Given the description of an element on the screen output the (x, y) to click on. 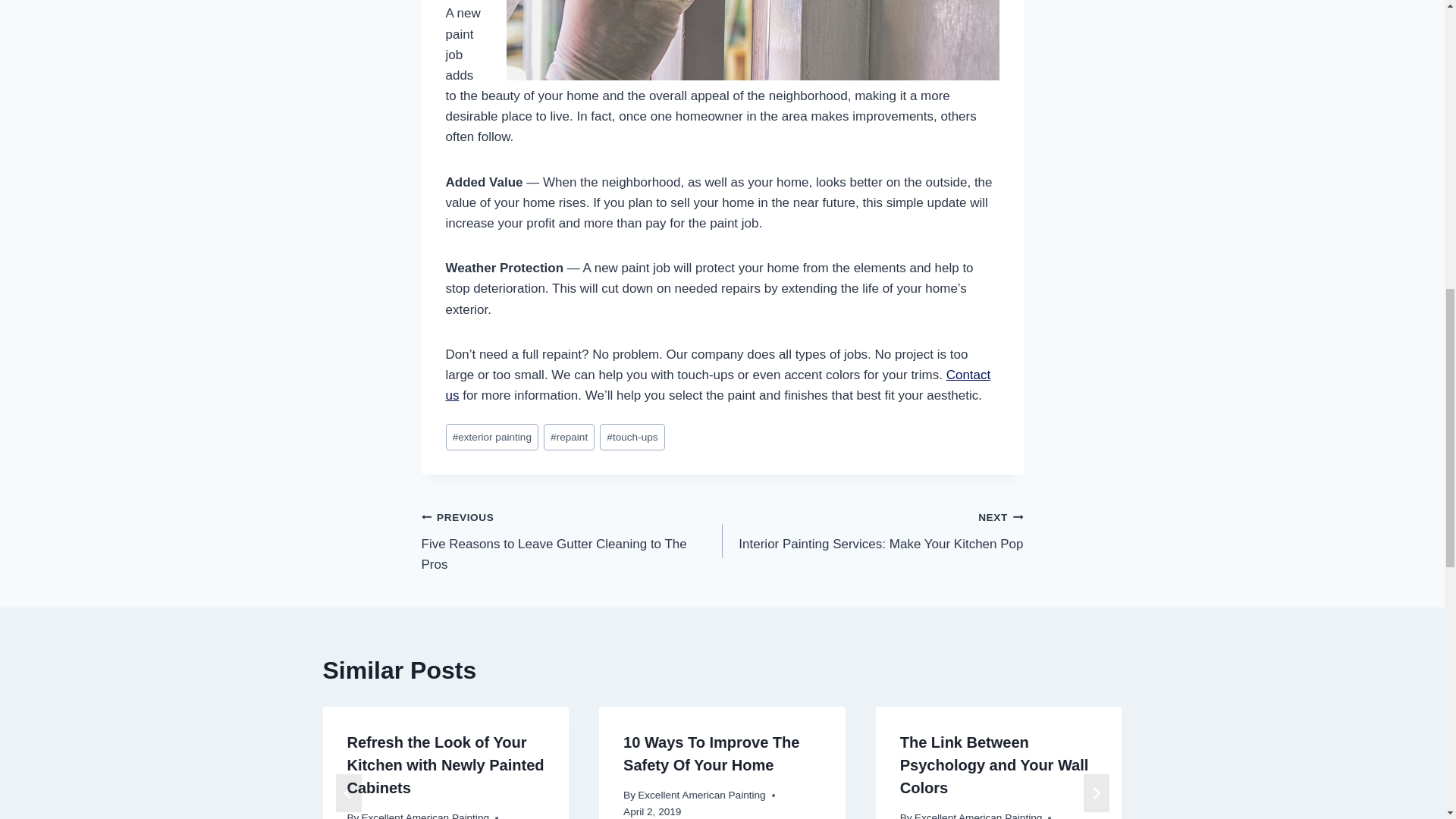
repaint (568, 437)
exterior painting (491, 437)
Contact us (718, 384)
touch-ups (632, 437)
Exterior Painting Services: Refresh the Look of Your Home (572, 540)
